Given the description of an element on the screen output the (x, y) to click on. 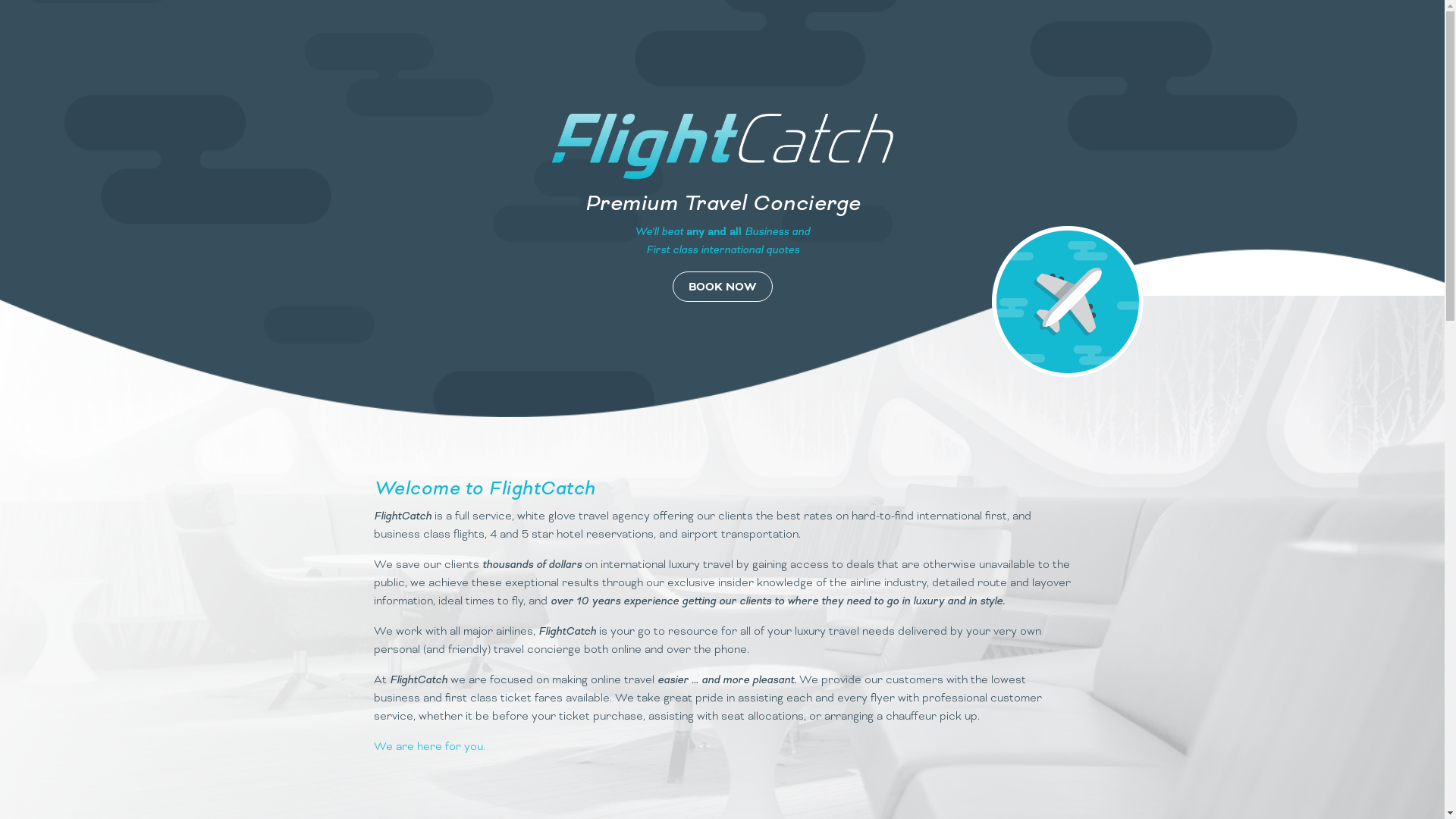
BOOK NOW Element type: text (721, 286)
